Given the description of an element on the screen output the (x, y) to click on. 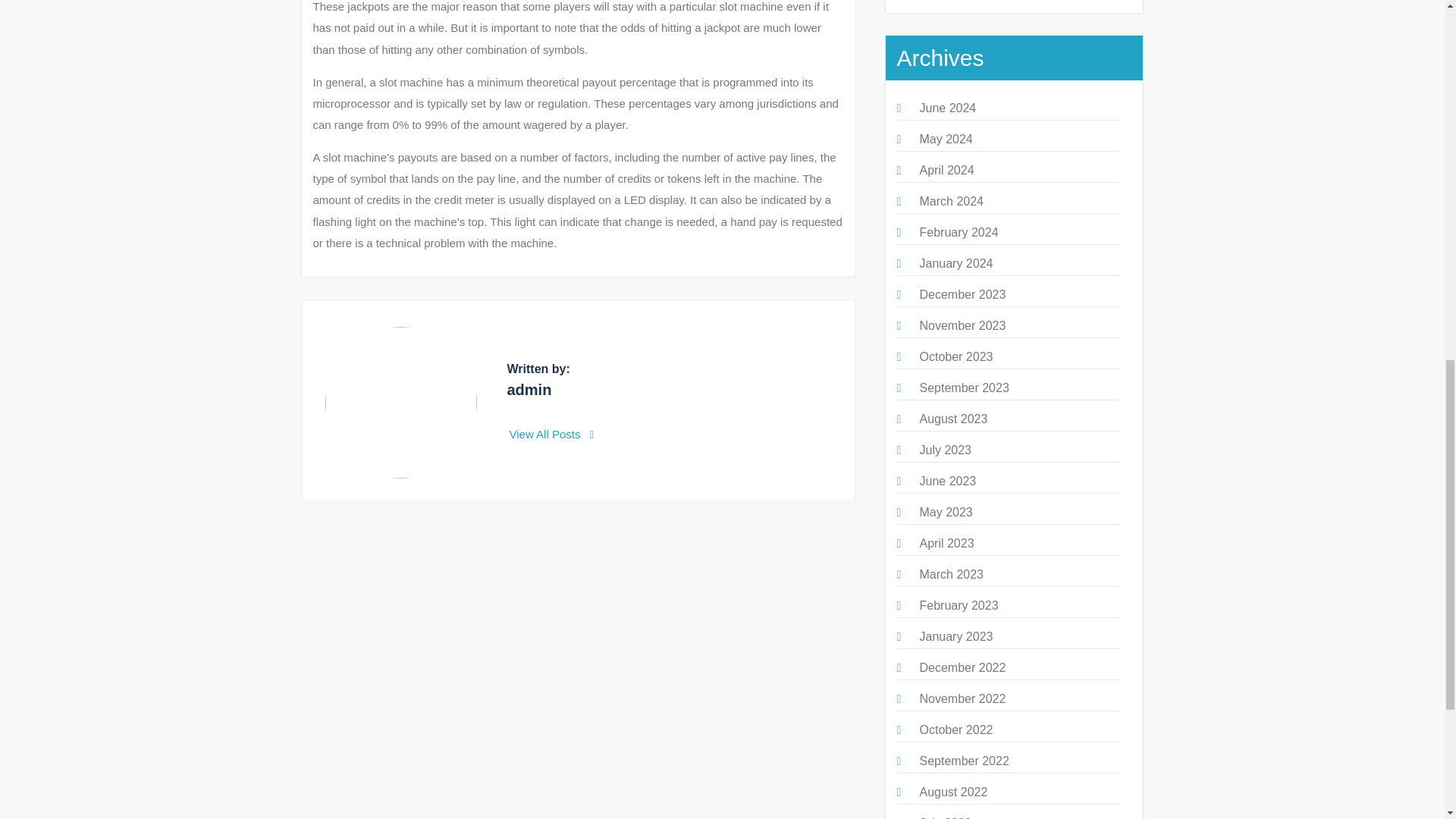
View All Posts (551, 433)
January 2023 (955, 635)
October 2023 (955, 356)
August 2023 (952, 418)
March 2024 (951, 201)
May 2024 (945, 138)
June 2023 (946, 481)
May 2023 (945, 512)
October 2022 (955, 729)
September 2023 (963, 387)
December 2022 (962, 667)
November 2023 (962, 325)
February 2024 (957, 232)
July 2022 (944, 817)
March 2023 (951, 574)
